Given the description of an element on the screen output the (x, y) to click on. 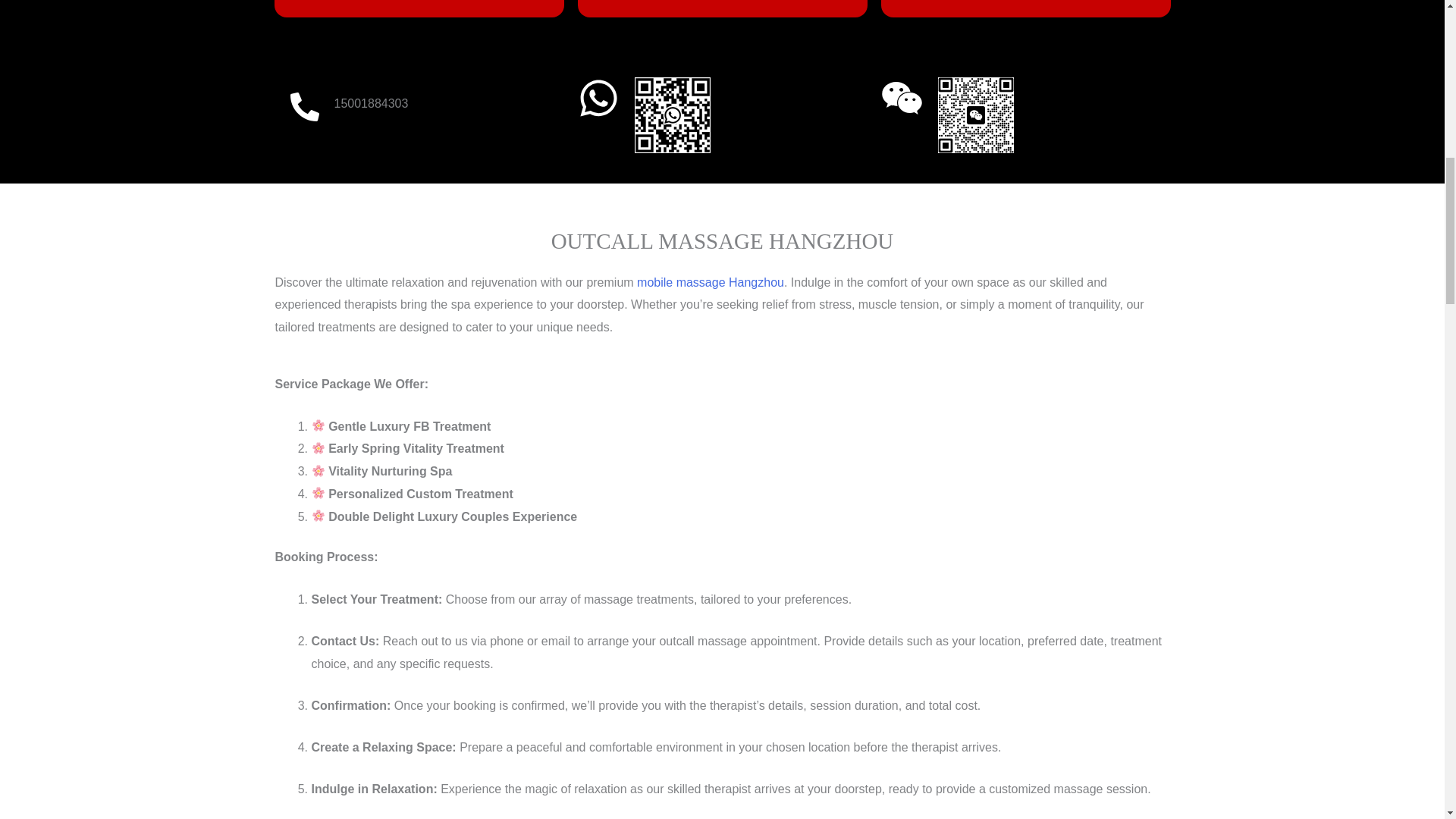
15001884303 (370, 103)
mobile massage Hangzhou (710, 282)
